Given the description of an element on the screen output the (x, y) to click on. 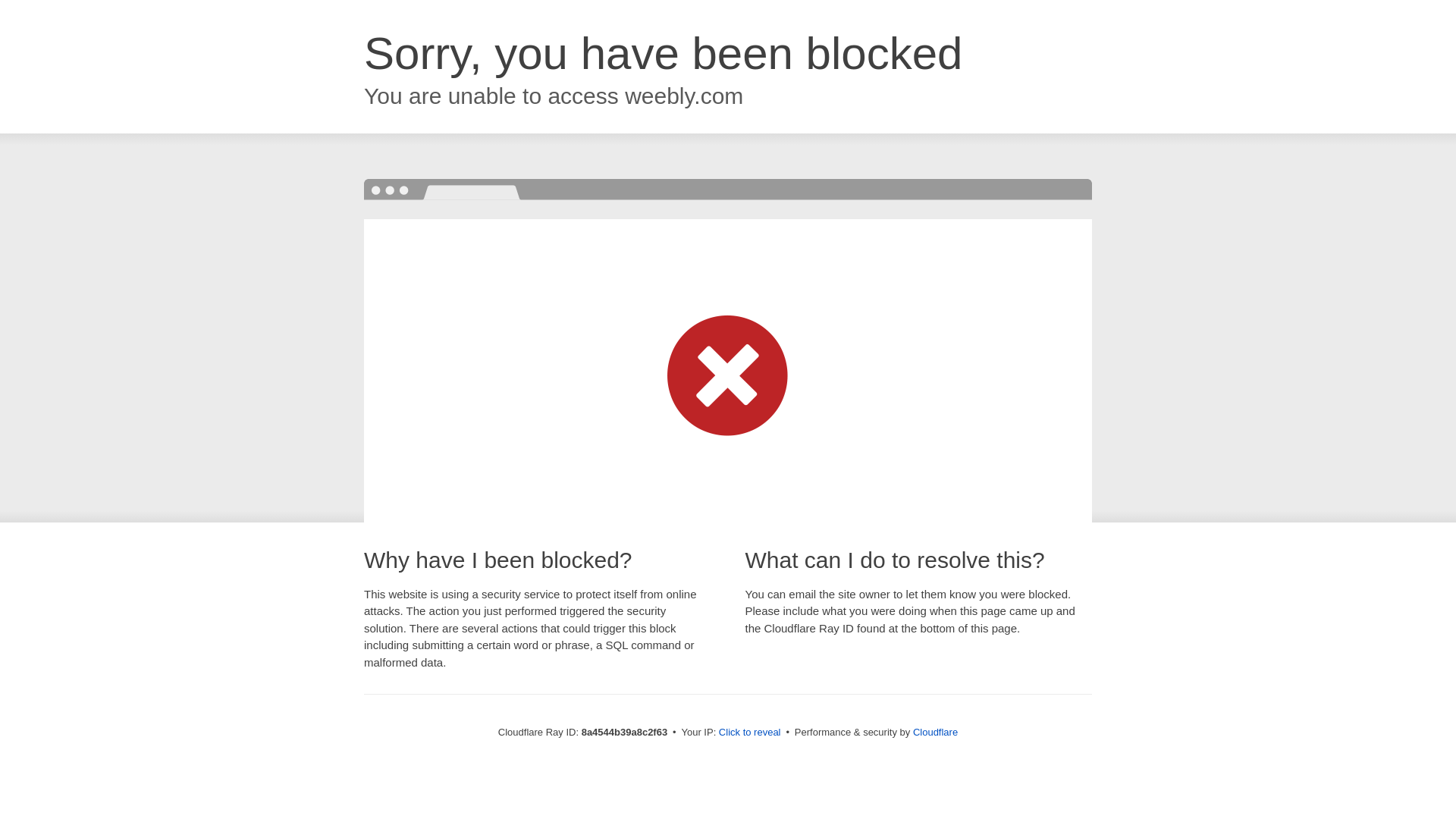
Cloudflare (935, 731)
Click to reveal (749, 732)
